Given the description of an element on the screen output the (x, y) to click on. 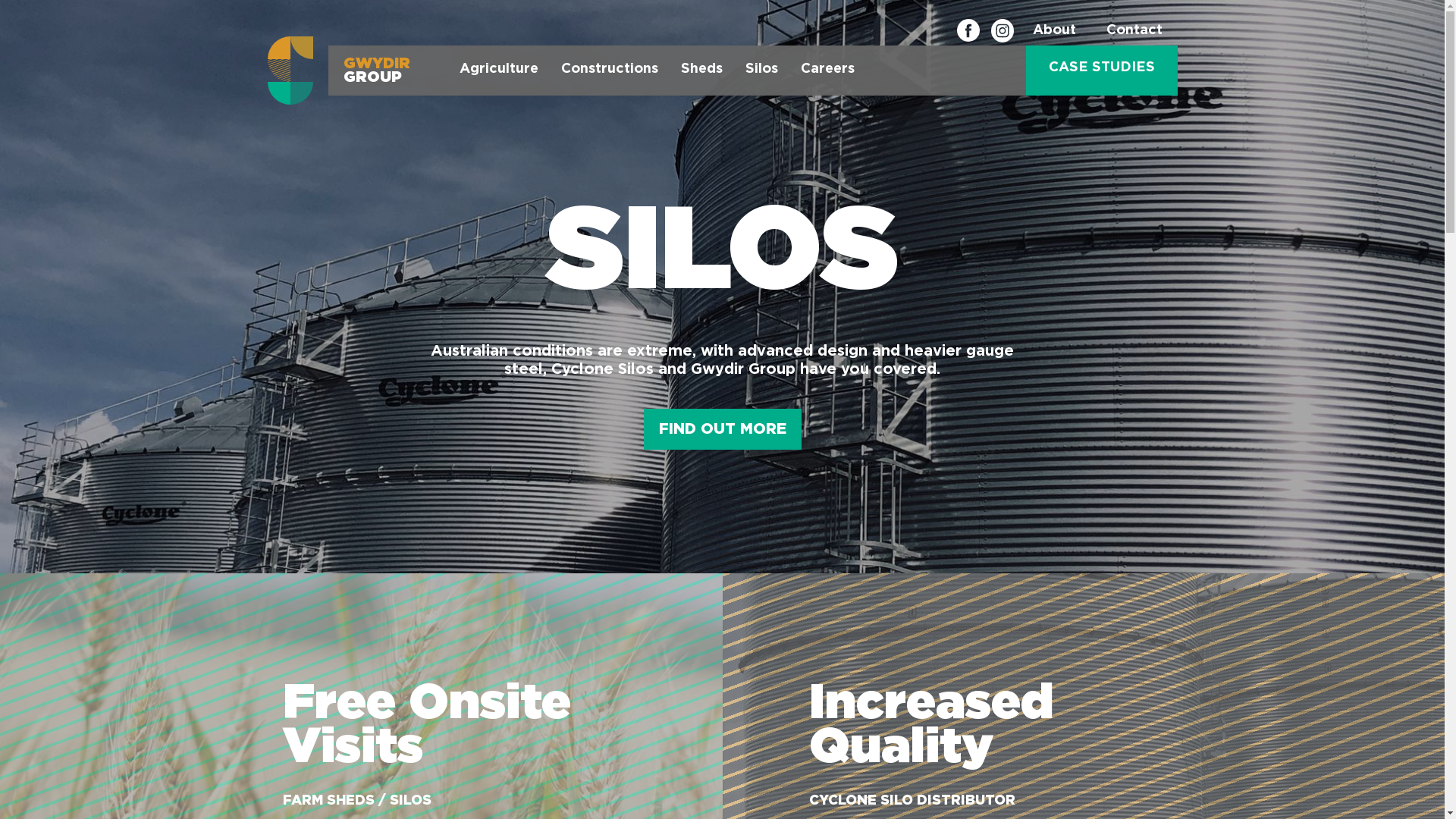
Constructions Element type: text (608, 70)
About Element type: text (1054, 29)
GWYDIR
GROUP Element type: text (345, 70)
Careers Element type: text (826, 70)
CASE STUDIES Element type: text (1100, 70)
Contact Element type: text (1133, 29)
Find us on Facebook Element type: hover (968, 29)
Agriculture Element type: text (498, 70)
See us on Instagram Element type: hover (1001, 30)
Silos Element type: text (761, 70)
Sheds Element type: text (700, 70)
